Given the description of an element on the screen output the (x, y) to click on. 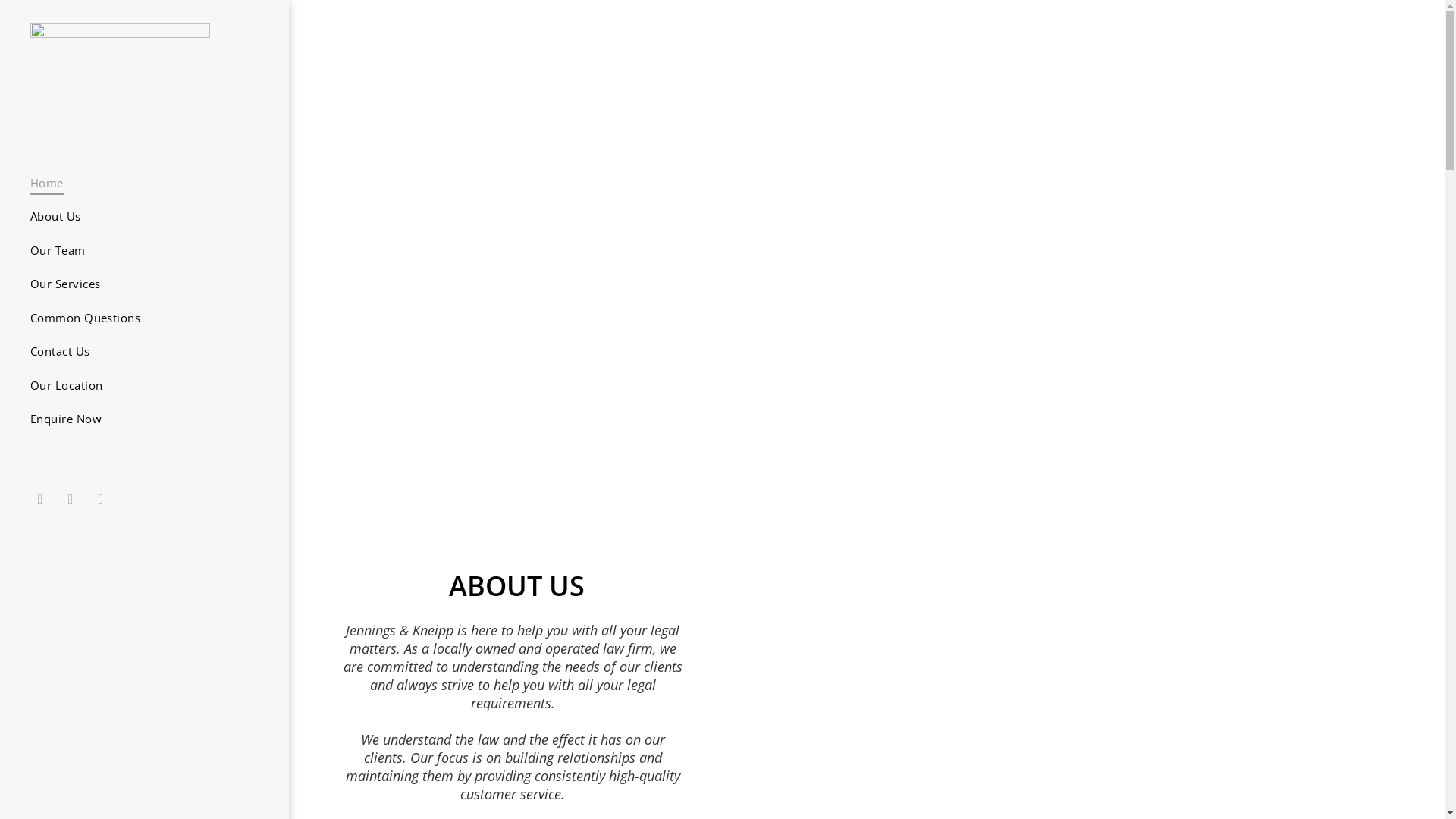
Home Element type: text (138, 183)
Contact Us Element type: text (138, 351)
About Us Element type: text (138, 216)
Common Questions Element type: text (138, 318)
Our Location Element type: text (138, 385)
Our Team Element type: text (138, 250)
Our Services Element type: text (138, 283)
Enquire Now Element type: text (138, 418)
